Given the description of an element on the screen output the (x, y) to click on. 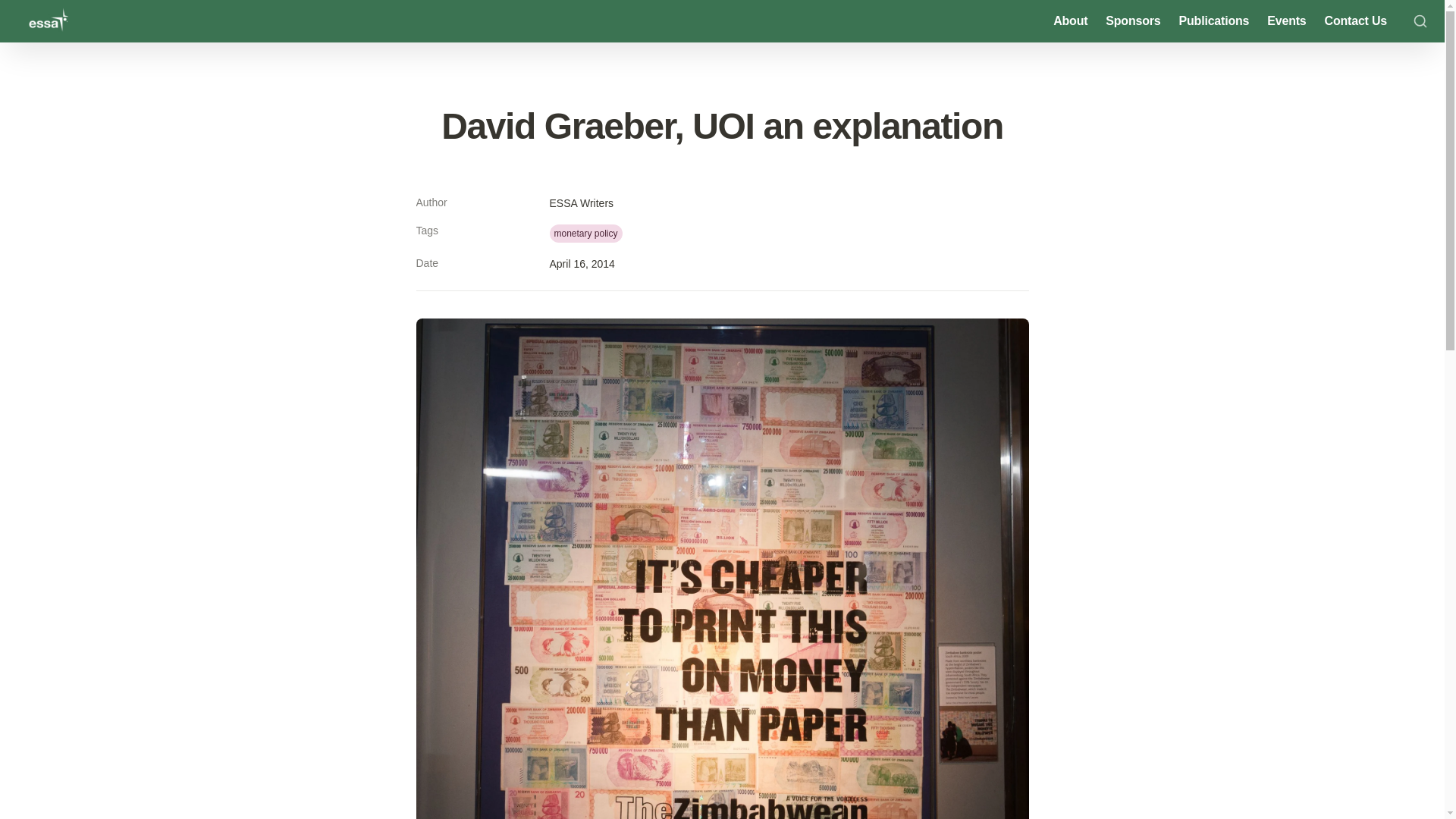
Sponsors (1132, 21)
Contact Us (1356, 21)
Publications (1214, 21)
About (1069, 21)
Events (1285, 21)
